Given the description of an element on the screen output the (x, y) to click on. 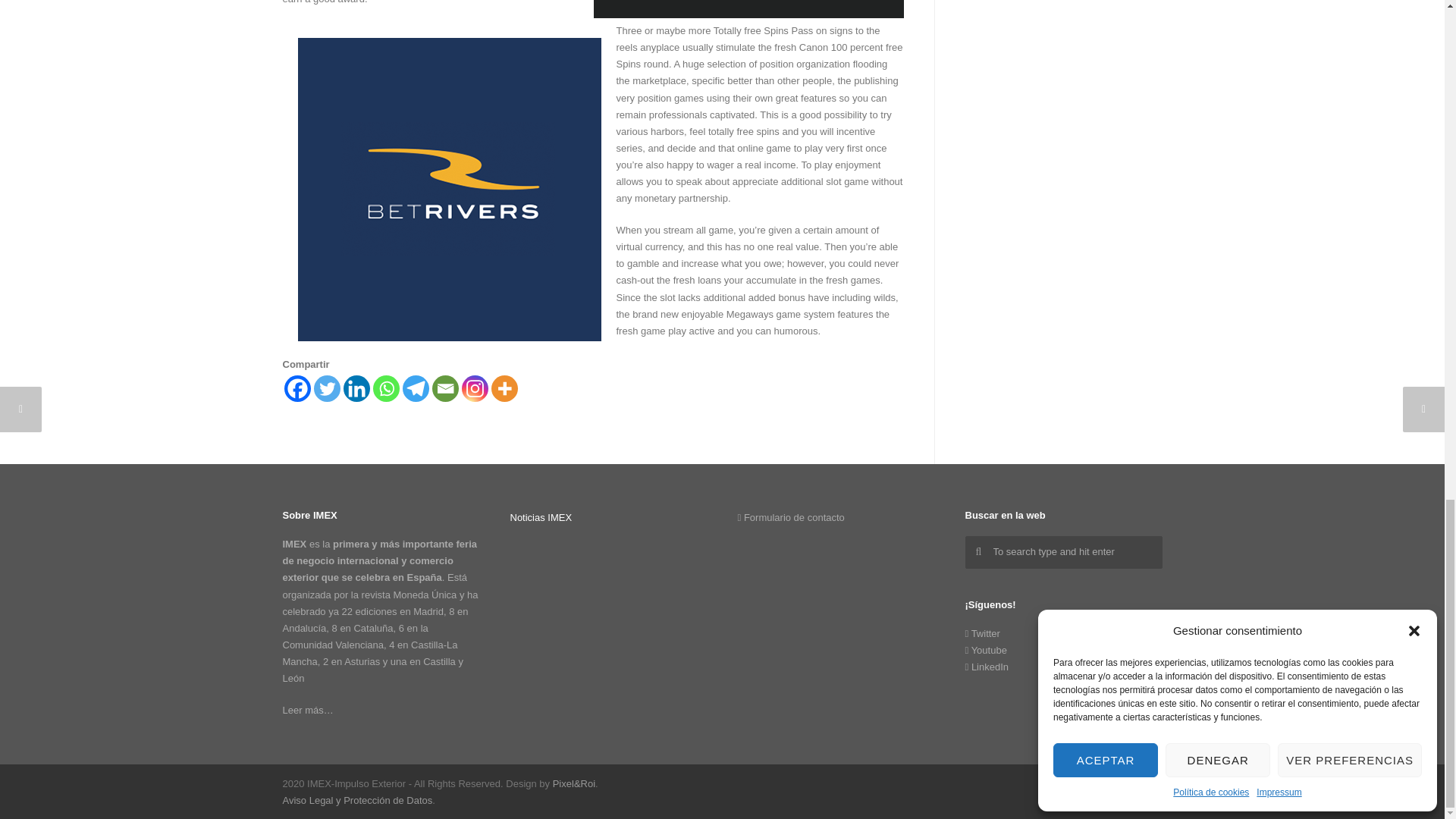
Twitter (327, 388)
Telegram (414, 388)
Linkedin (355, 388)
Whatsapp (385, 388)
YouTube (1146, 785)
Email (445, 388)
To search type and hit enter (1062, 552)
Instagram (474, 388)
Facebook (296, 388)
Twitter (1115, 785)
More (505, 388)
LinkedIn (1085, 785)
